Given the description of an element on the screen output the (x, y) to click on. 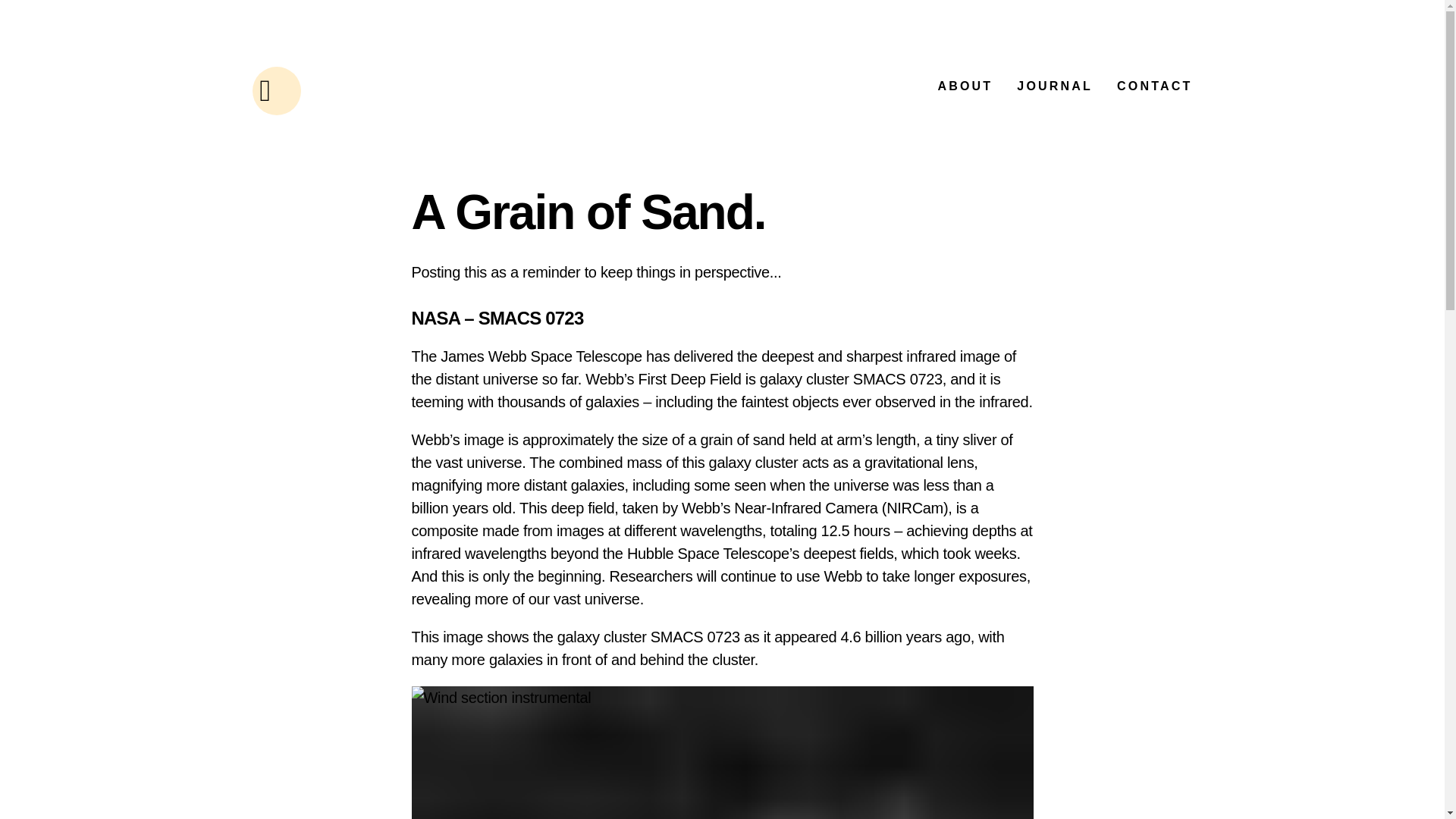
ABOUT (964, 85)
JOURNAL (1054, 85)
CONTACT (1154, 85)
